Given the description of an element on the screen output the (x, y) to click on. 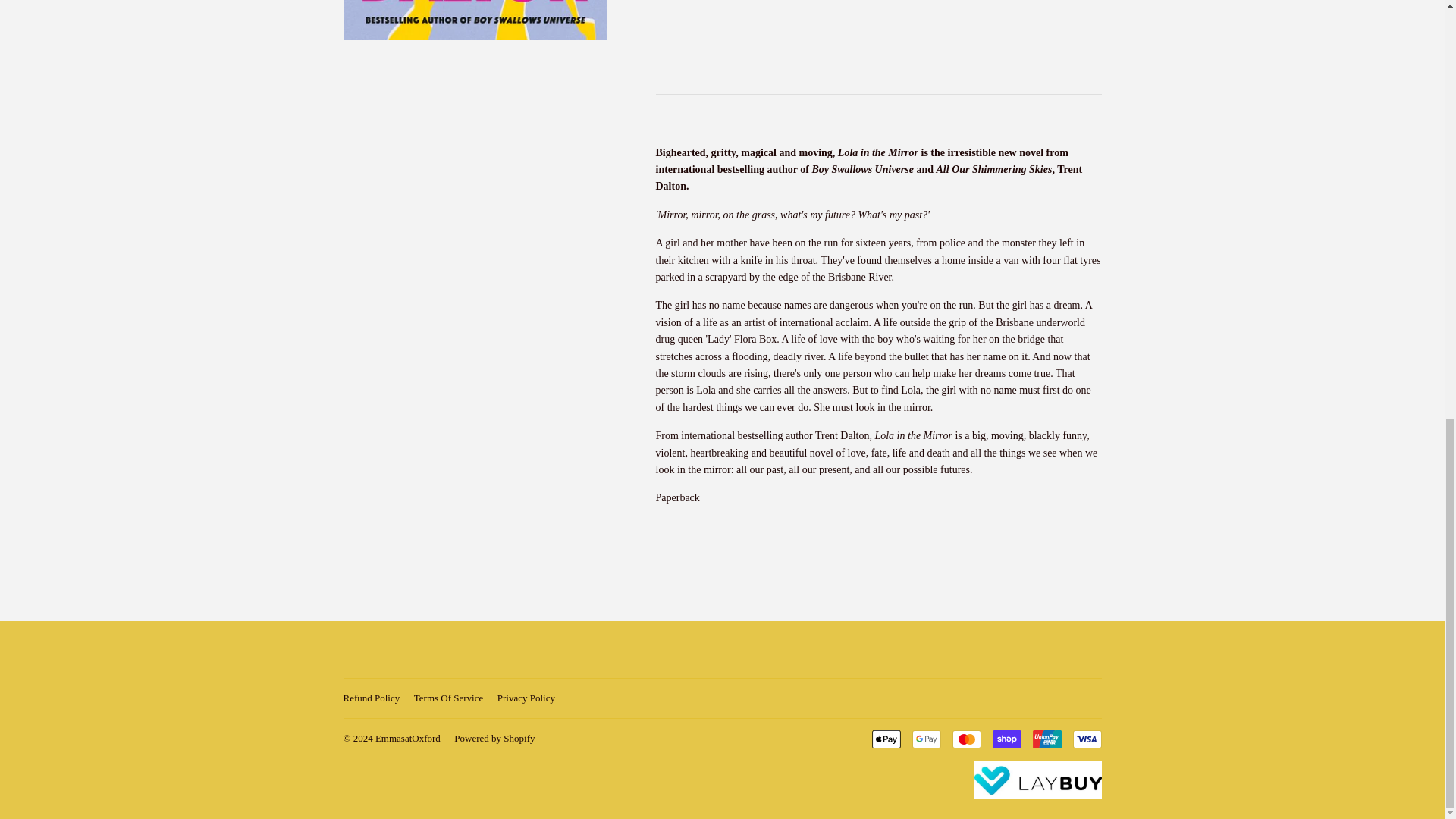
Shop Pay (1005, 739)
Google Pay (925, 739)
Mastercard (966, 739)
Visa (1085, 739)
Apple Pay (886, 739)
Union Pay (1046, 739)
